Given the description of an element on the screen output the (x, y) to click on. 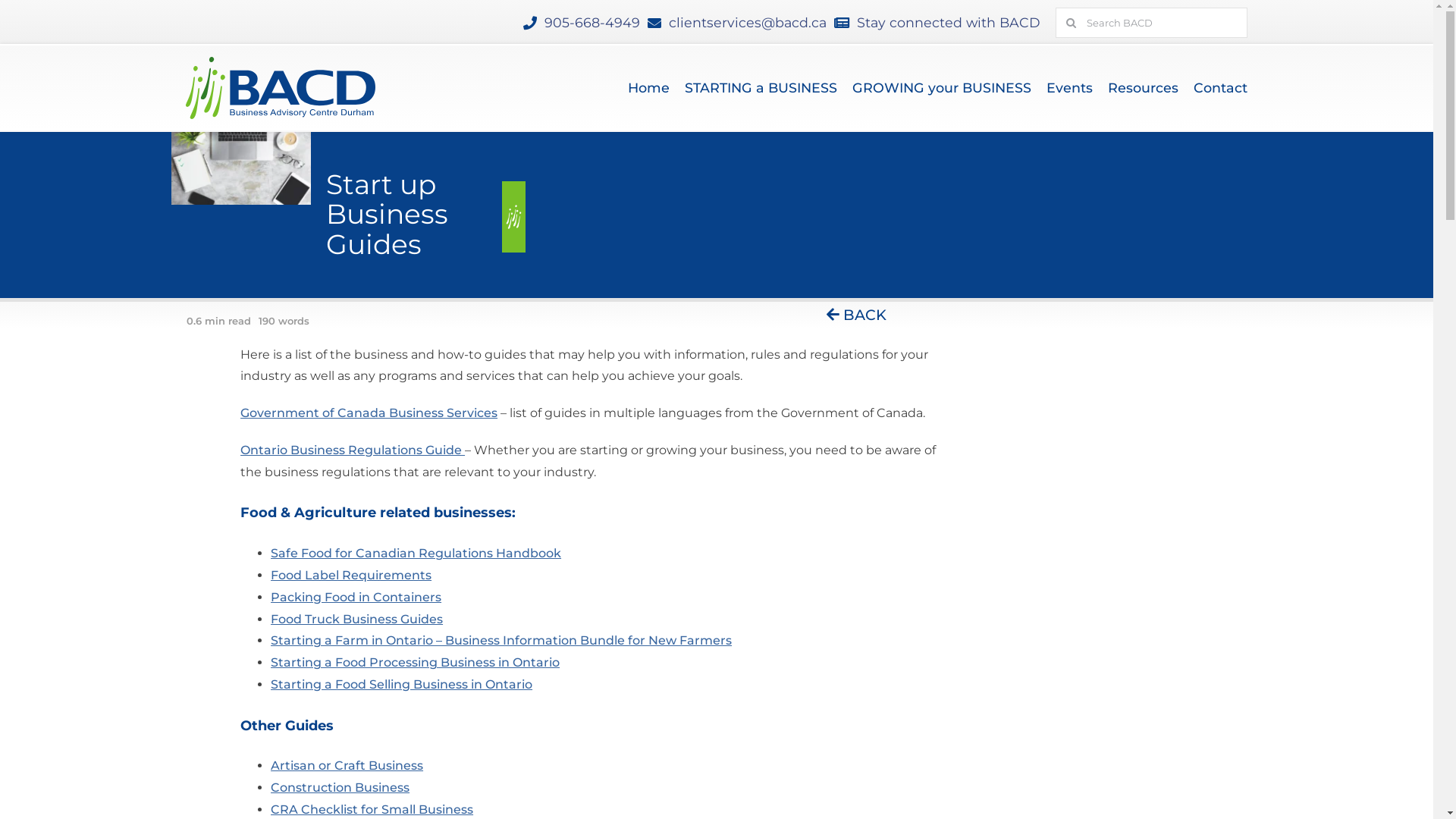
Starting a Food Processing Business in Ontario Element type: text (414, 662)
Construction Business Element type: text (339, 787)
Home Element type: text (648, 87)
Resources Element type: text (1142, 87)
Food Label Requirements Element type: text (350, 574)
905-668-4949 Element type: text (592, 22)
Starting a Food Selling Business in Ontario Element type: text (401, 684)
i_rsr-sprouts Element type: hover (513, 216)
CRA Checklist for Small Business Element type: text (371, 809)
Packing Food in Containers Element type: text (355, 596)
Stay connected with BACD Element type: text (948, 22)
clientservices@bacd.ca Element type: text (747, 22)
Ontario Business Regulations Guide Element type: text (352, 449)
BACK Element type: text (856, 314)
Food Truck Business Guides Element type: text (356, 618)
Safe Food for Canadian Regulations Handbook Element type: text (415, 553)
Contact Element type: text (1220, 87)
STARTING a BUSINESS Element type: text (760, 87)
Government of Canada Business Services Element type: text (368, 412)
Events Element type: text (1069, 87)
Artisan or Craft Business Element type: text (346, 765)
BACD_Startup Business Guides Element type: hover (240, 168)
GROWING your BUSINESS Element type: text (941, 87)
